Given the description of an element on the screen output the (x, y) to click on. 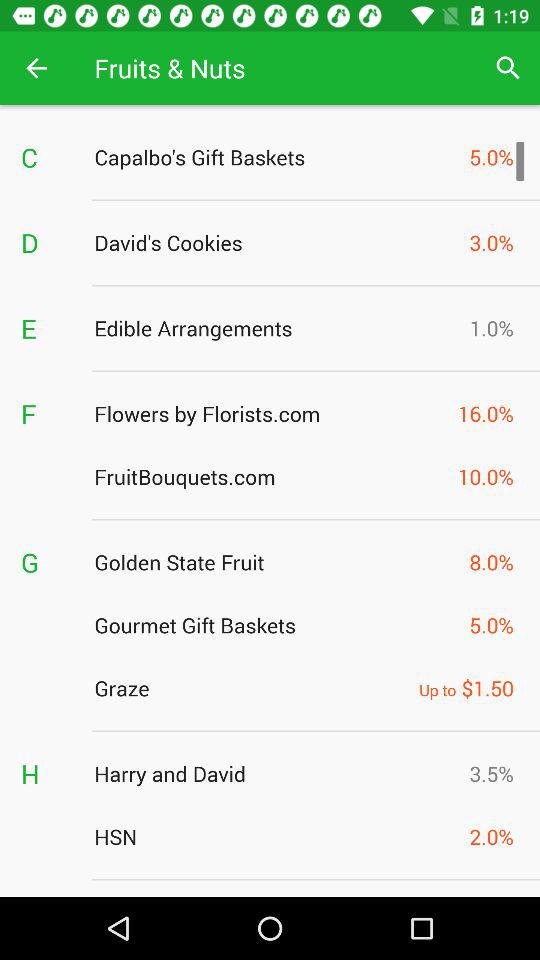
click the item to the left of the 8.0% (276, 562)
